Given the description of an element on the screen output the (x, y) to click on. 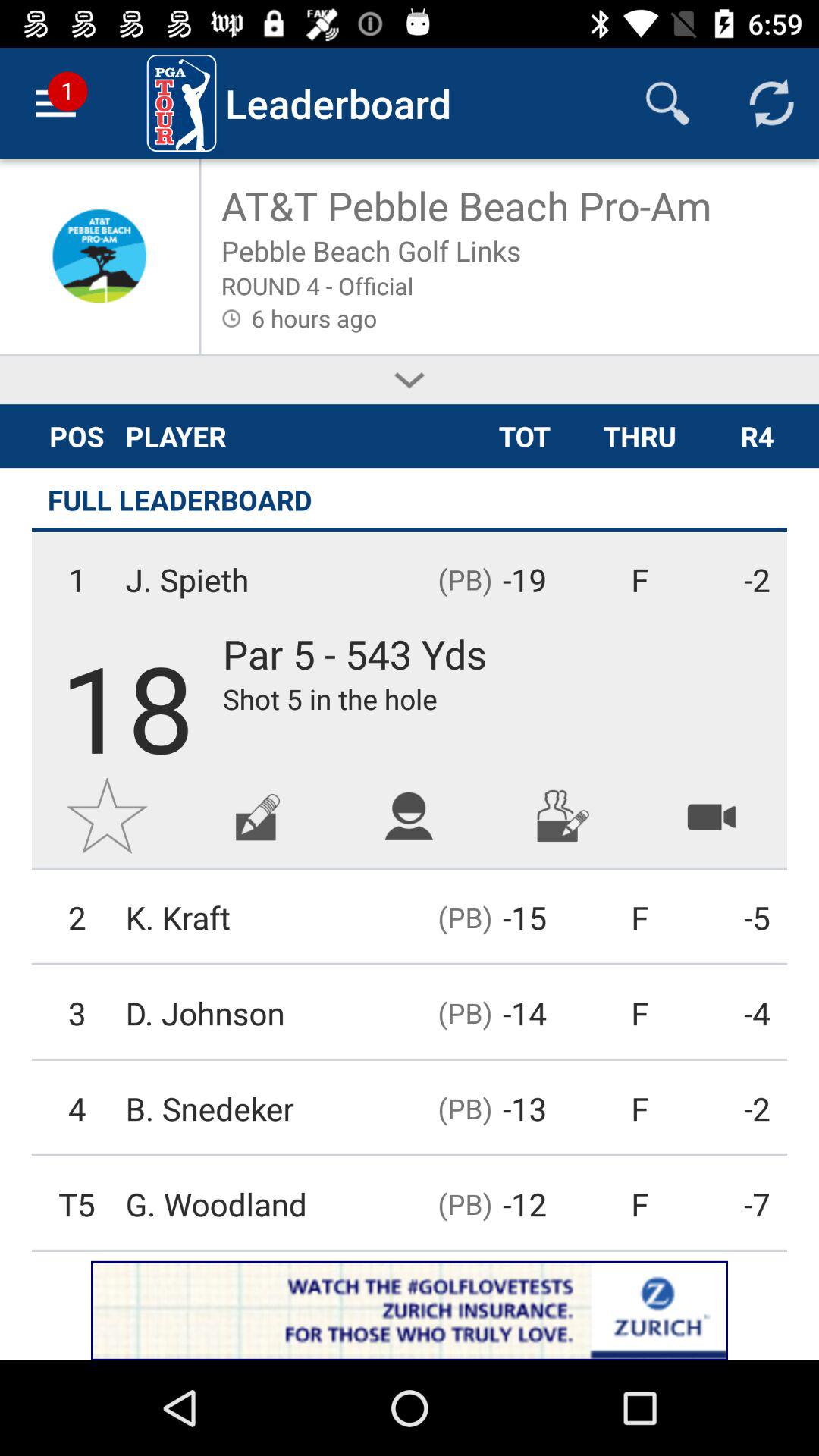
open app (409, 1310)
